Given the description of an element on the screen output the (x, y) to click on. 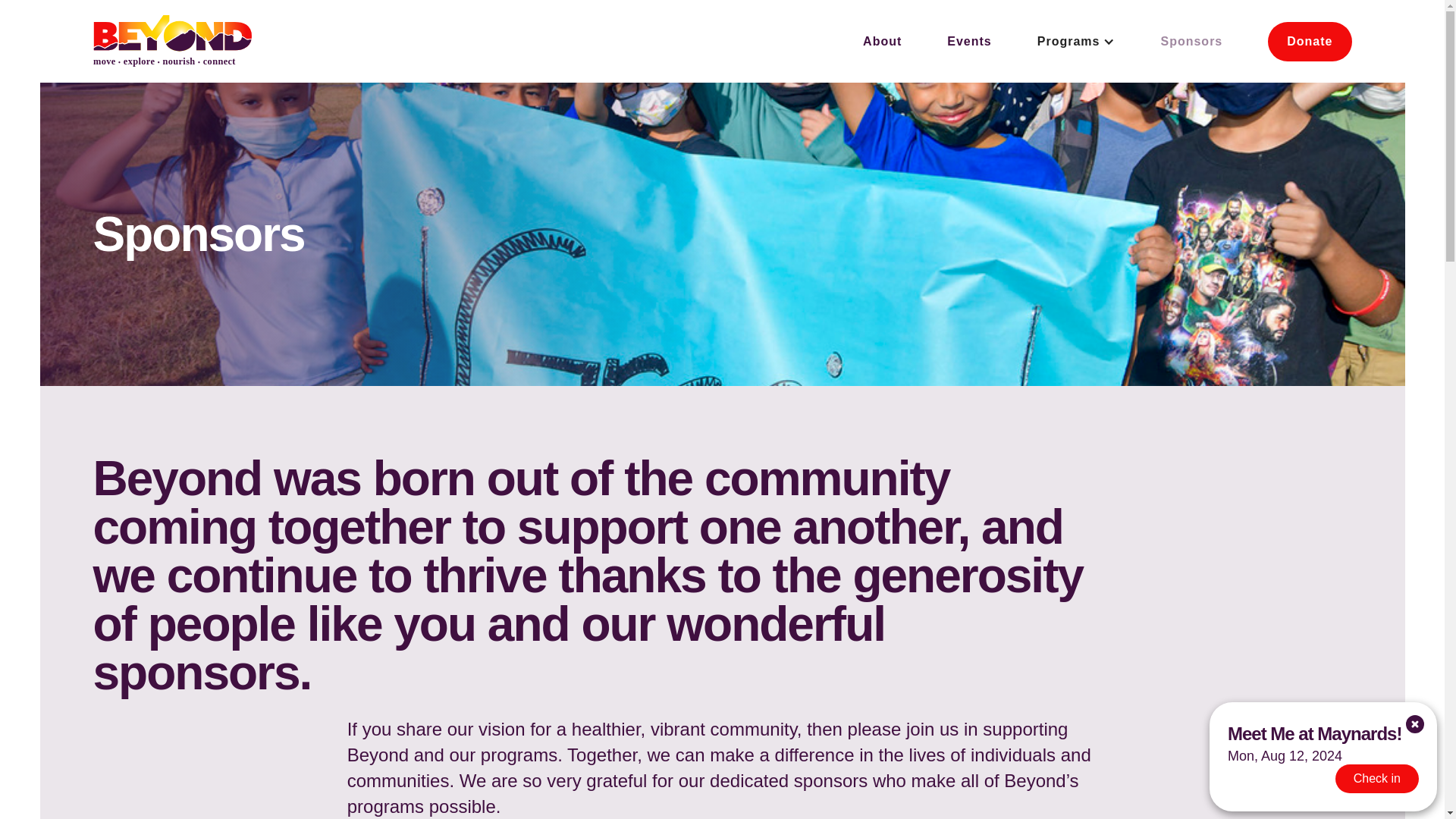
Donate (1309, 41)
About (882, 41)
Sponsors (1190, 41)
Events (968, 41)
